Given the description of an element on the screen output the (x, y) to click on. 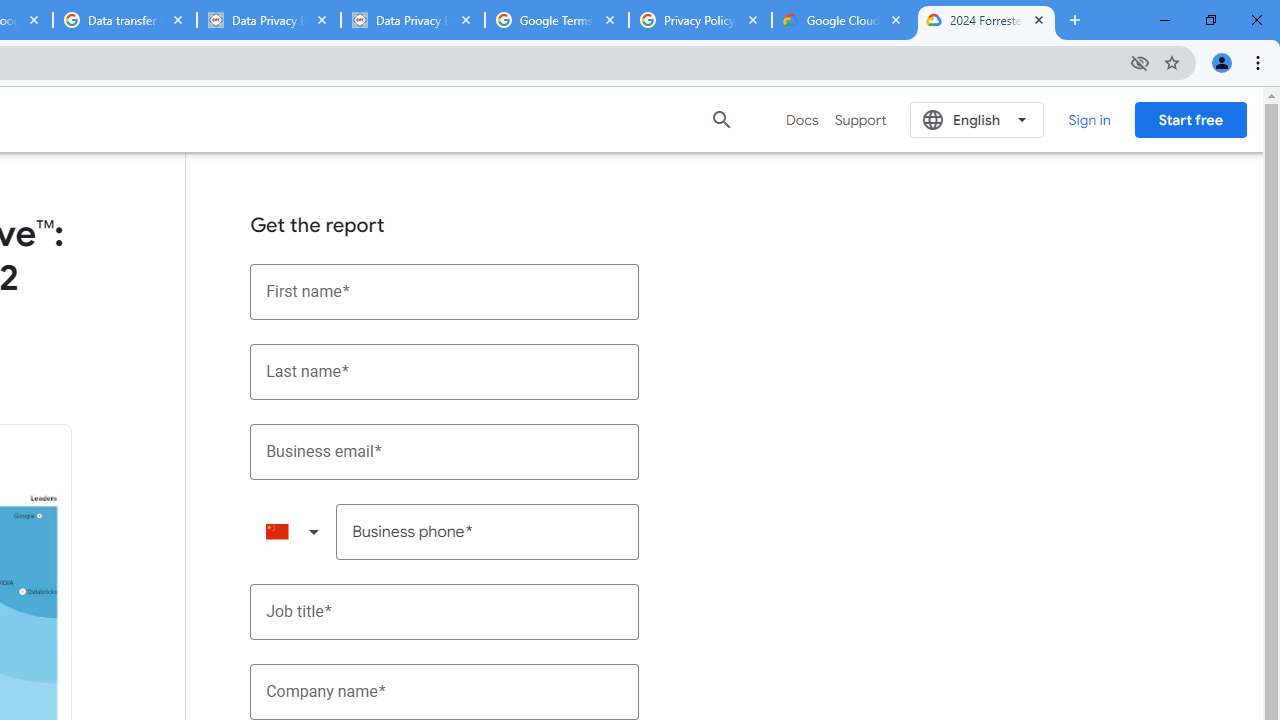
Calling Code (+86) (292, 531)
Last name* (445, 371)
Support (860, 119)
Docs (802, 119)
Start free (1190, 119)
Job title* (445, 611)
Data Privacy Framework (412, 20)
